Given the description of an element on the screen output the (x, y) to click on. 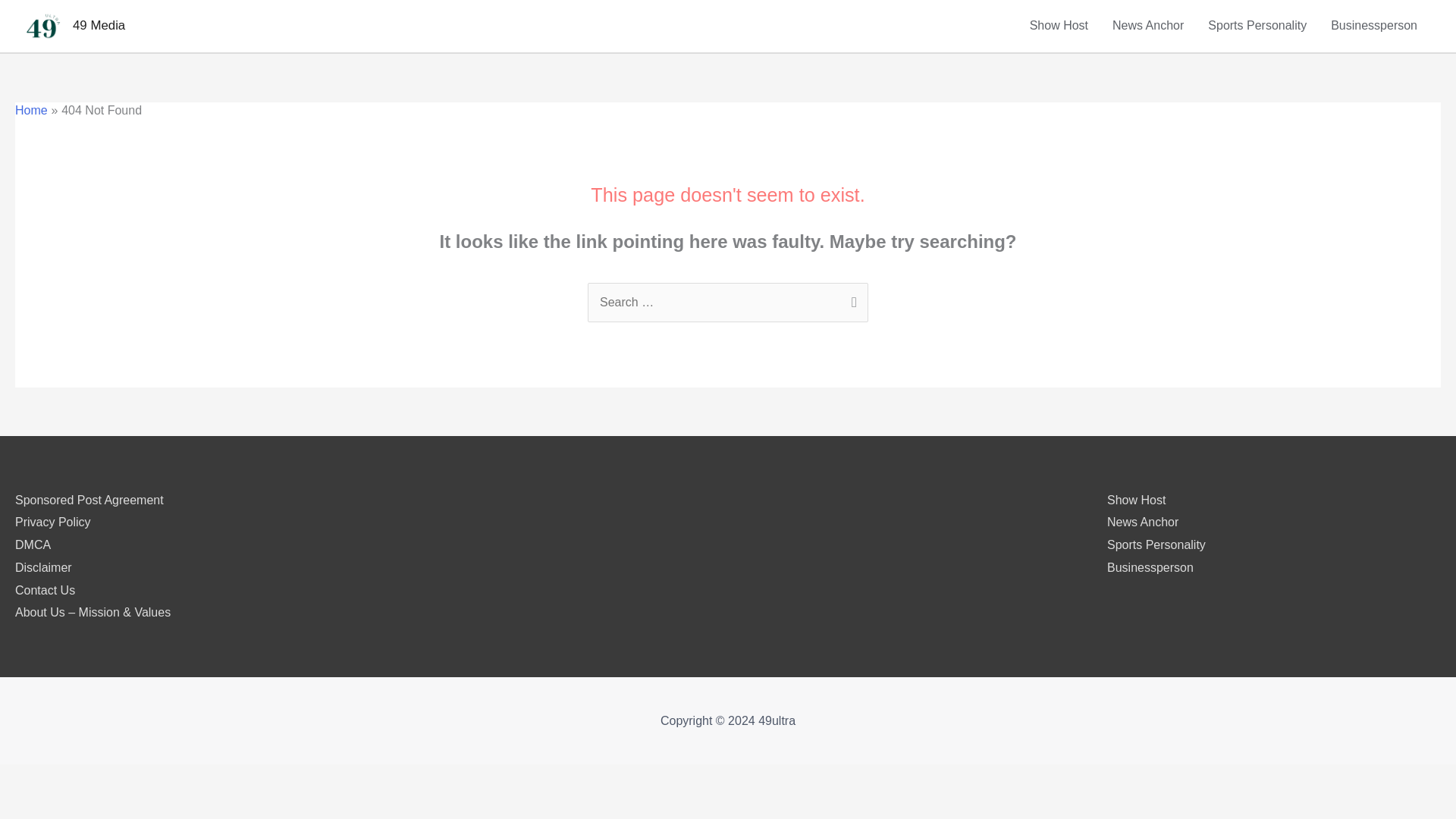
Sponsored Post Agreement (88, 499)
Disclaimer (42, 567)
DMCA (32, 544)
Home (31, 110)
Show Host (1136, 499)
49 Media (98, 25)
Sports Personality (1257, 25)
News Anchor (1141, 521)
Businessperson (1149, 567)
Businessperson (1374, 25)
Contact Us (44, 590)
Search (850, 299)
Search (850, 299)
Show Host (1058, 25)
Search (850, 299)
